Given the description of an element on the screen output the (x, y) to click on. 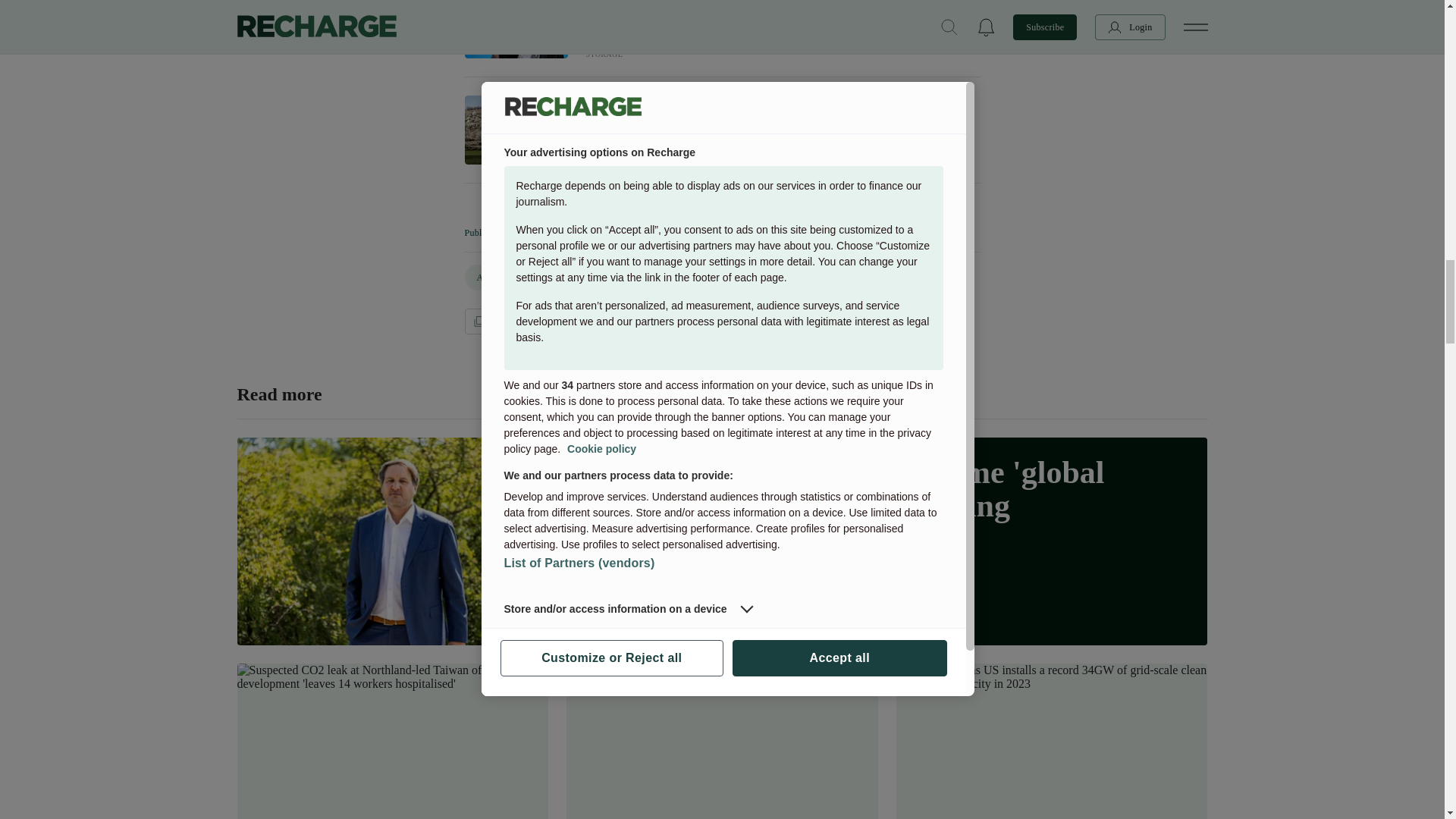
Asia-Pacific (499, 277)
India (563, 277)
